Given the description of an element on the screen output the (x, y) to click on. 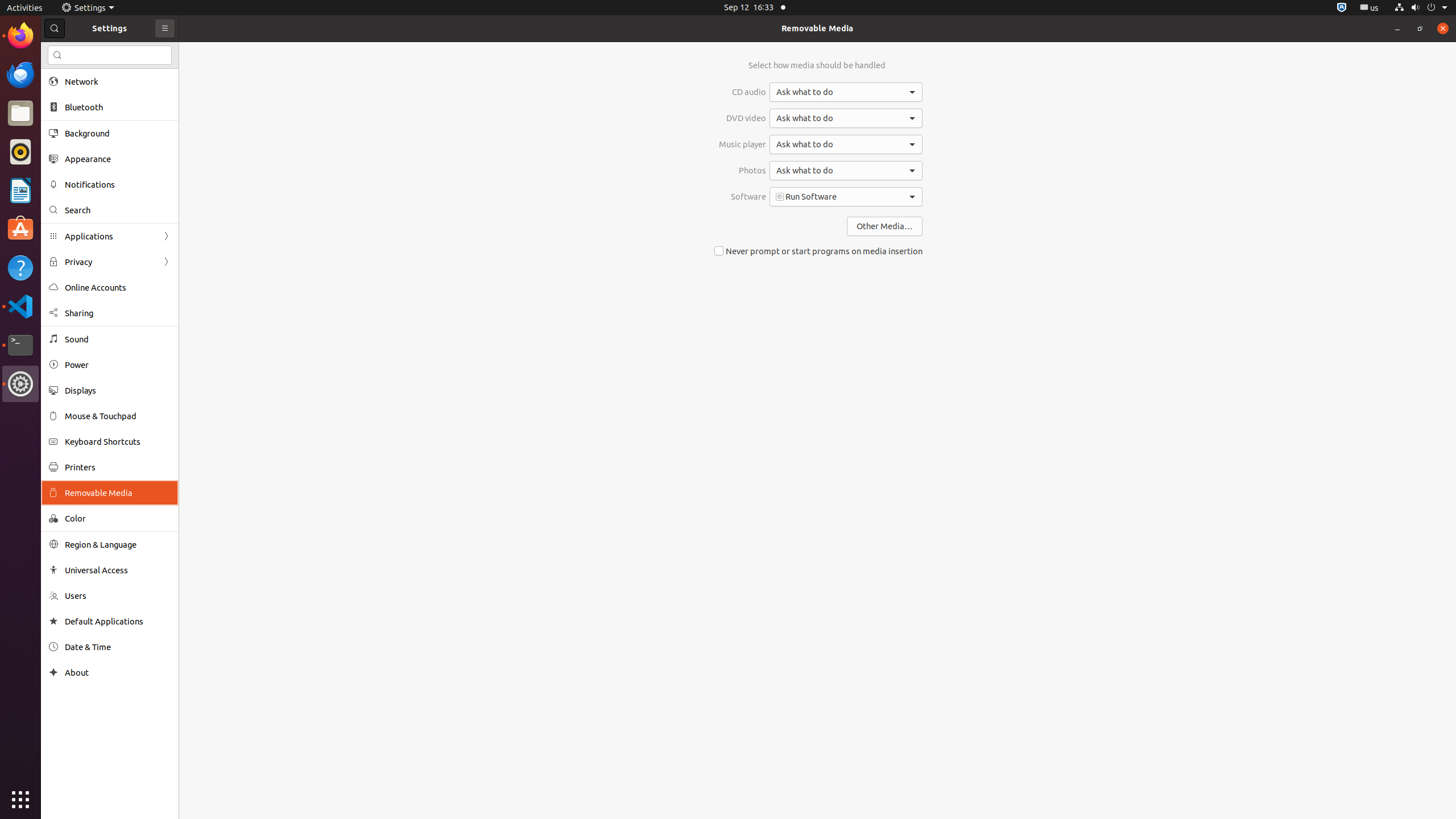
Background Element type: label (117, 133)
Close Element type: push-button (1442, 27)
Displays Element type: label (117, 390)
Region & Language Element type: label (117, 544)
Forward Element type: icon (165, 261)
